Given the description of an element on the screen output the (x, y) to click on. 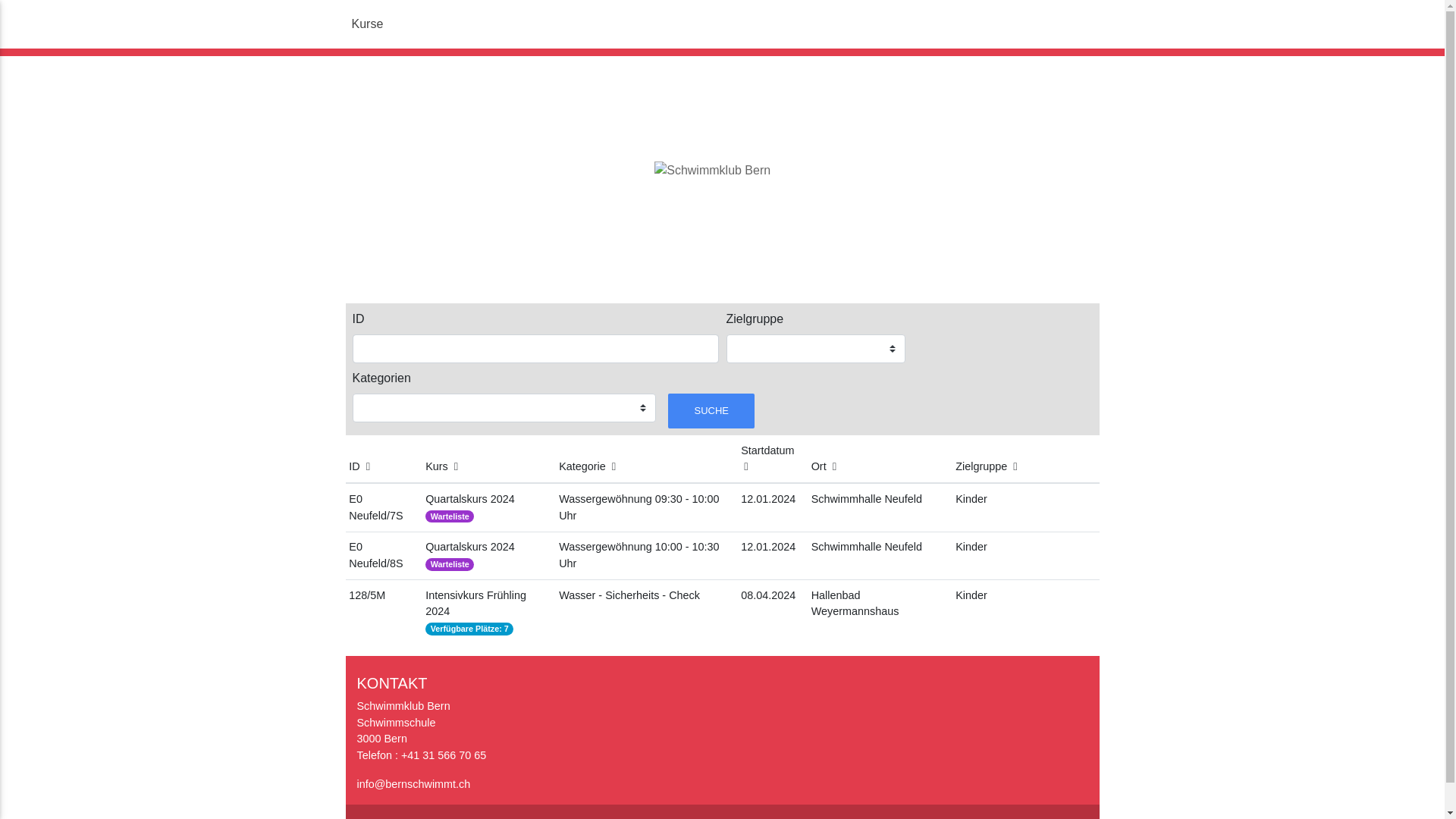
ID Element type: text (359, 466)
Ort Element type: text (823, 466)
SUCHE Element type: text (711, 410)
Kategorie Element type: text (586, 466)
Startdatum Element type: text (766, 458)
info@bernschwimmt.ch Element type: text (413, 784)
Kurse Element type: text (367, 24)
Zielgruppe Element type: text (985, 466)
Kurs Element type: text (441, 466)
